Given the description of an element on the screen output the (x, y) to click on. 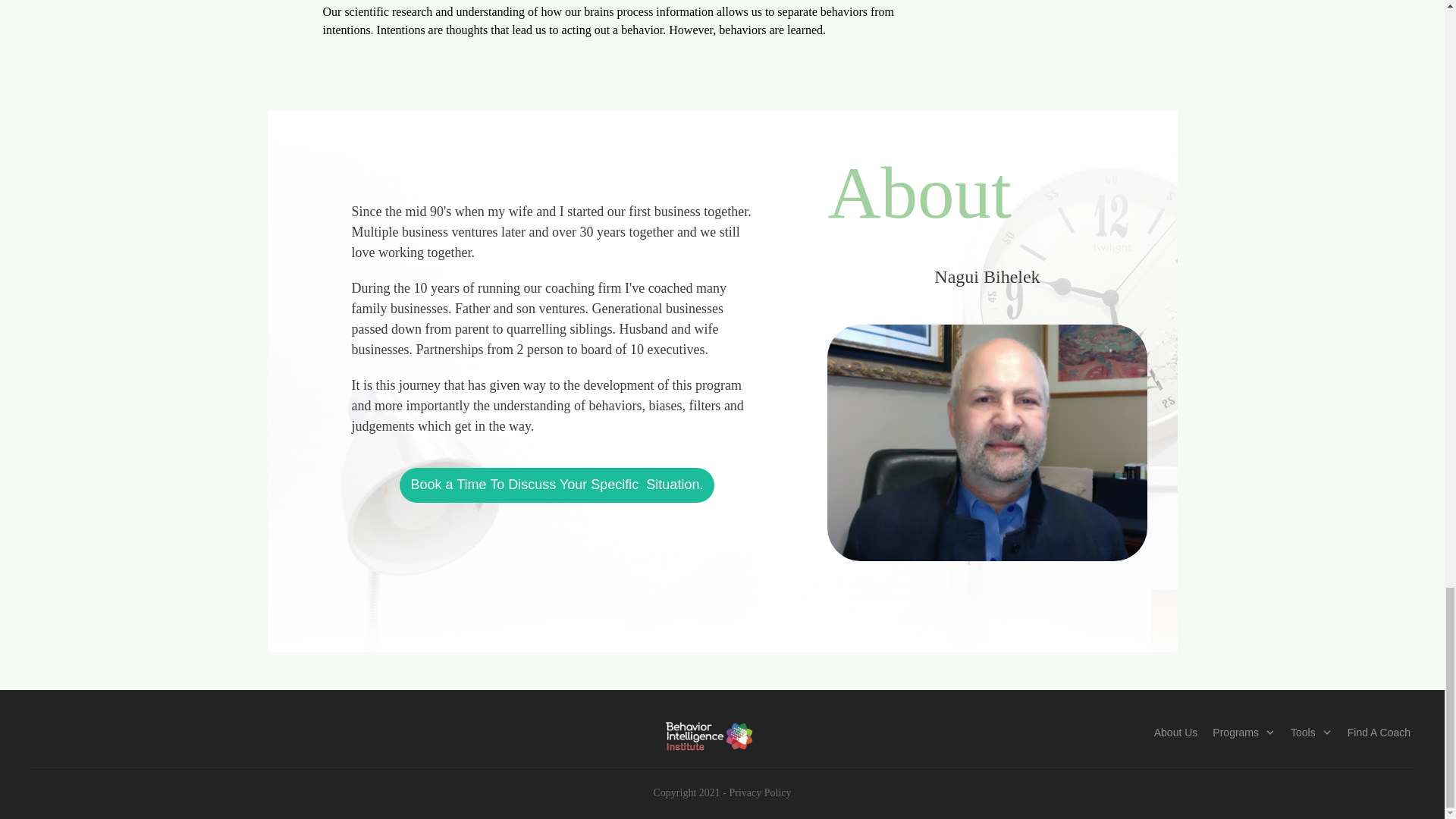
Privacy Policy (759, 792)
About Us (1176, 731)
Tools (1311, 731)
Programs (1243, 731)
Nagui Bihelek 1 (987, 442)
Find A Coach (1379, 731)
Book a Time To Discuss Your Specific  Situation. (556, 484)
